Given the description of an element on the screen output the (x, y) to click on. 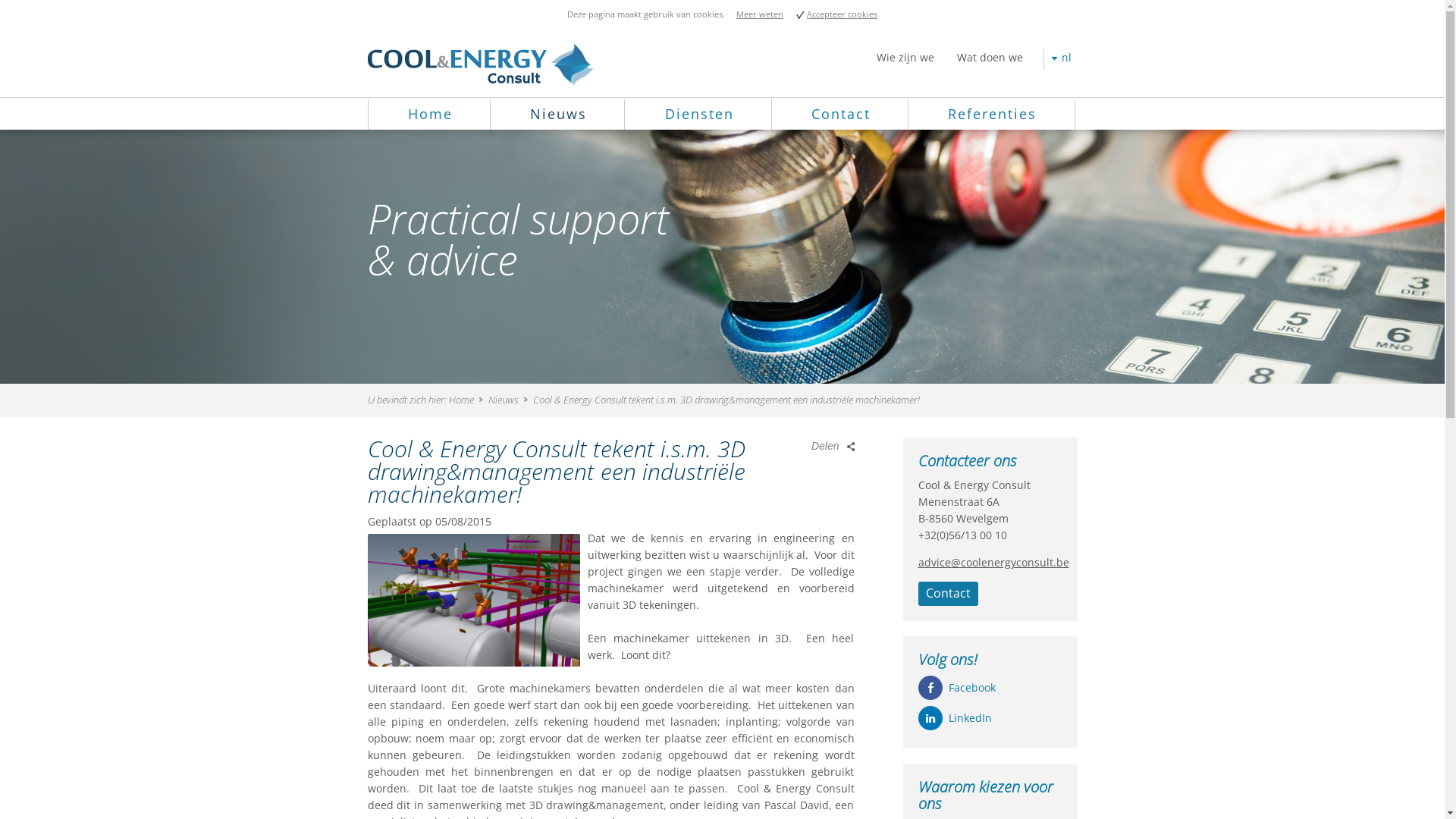
Nieuws Element type: text (507, 399)
Home Element type: text (429, 113)
Wat doen we Element type: text (988, 59)
Accepteer cookies Element type: text (836, 13)
Delen Element type: text (832, 445)
LinkedIn Element type: text (969, 717)
Meer weten Element type: text (759, 13)
Home Element type: text (465, 399)
Wie zijn we Element type: text (904, 59)
Facebook Element type: text (970, 687)
Machkamer pic51 Element type: hover (473, 599)
advice@coolenergyconsult.be Element type: text (992, 562)
Contact Element type: text (840, 113)
Nieuws Element type: text (558, 113)
Referenties Element type: text (991, 113)
Contact Element type: text (947, 593)
Diensten Element type: text (699, 113)
nl Element type: text (1065, 59)
